Given the description of an element on the screen output the (x, y) to click on. 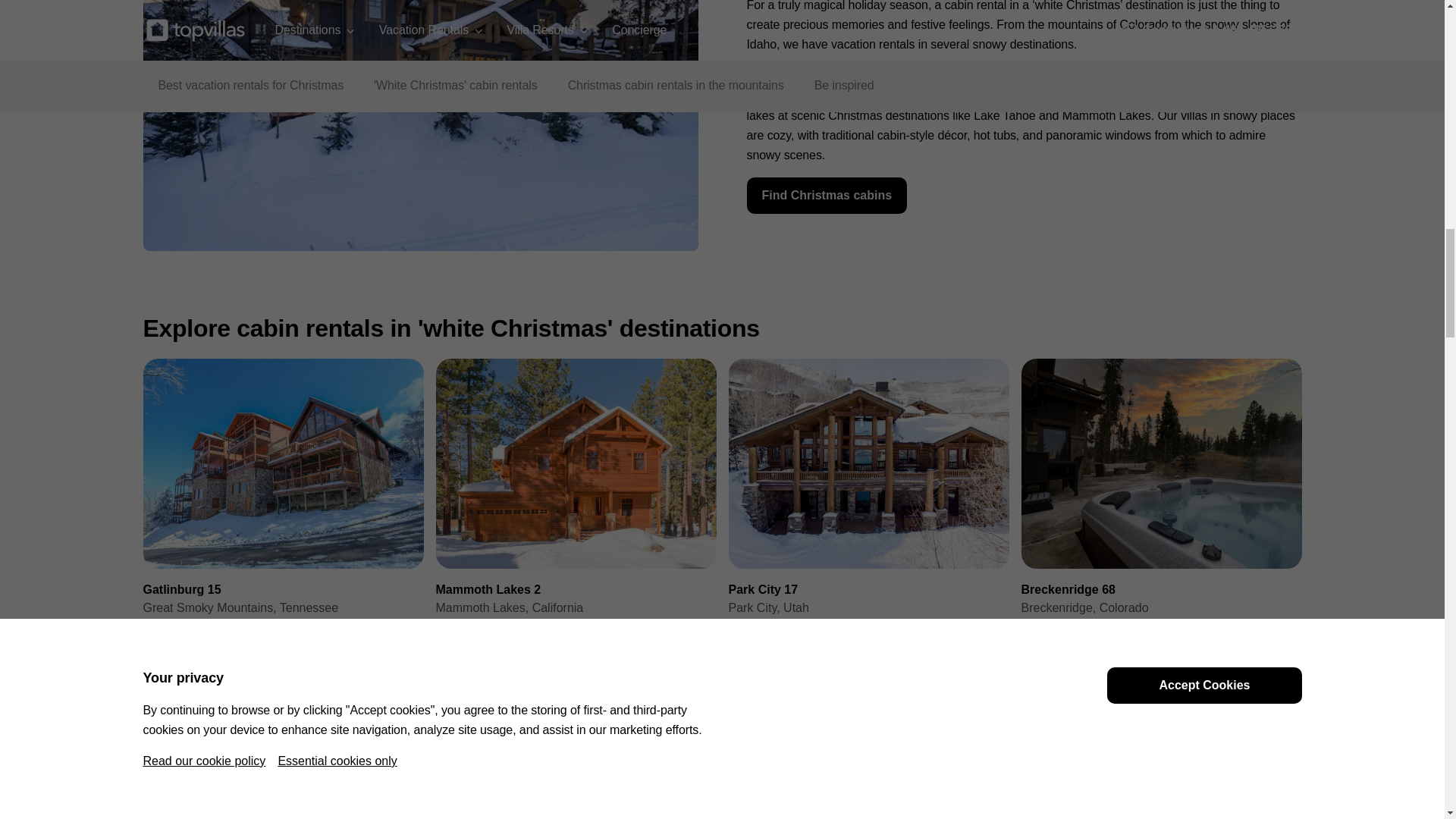
Mammoth Lakes 2 (575, 501)
Breckenridge 68 (1160, 501)
Gatlinburg 15 (282, 501)
Park City 17 (868, 501)
